Given the description of an element on the screen output the (x, y) to click on. 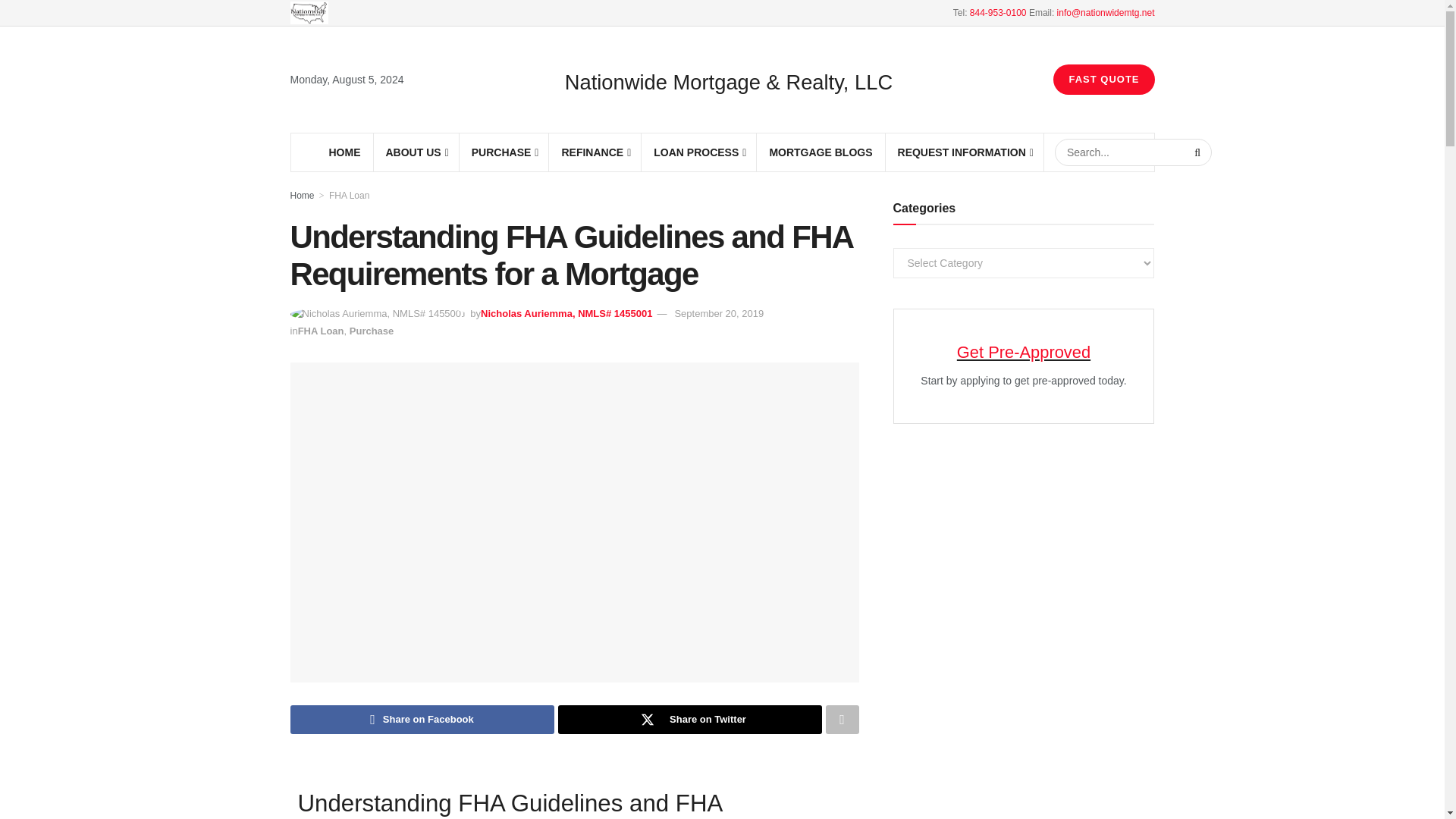
FAST QUOTE (1103, 79)
LOAN PROCESS (698, 151)
REFINANCE (594, 151)
MORTGAGE BLOGS (820, 151)
REQUEST INFORMATION (964, 151)
PURCHASE (504, 151)
844-953-0100 (997, 12)
ABOUT US (415, 151)
HOME (345, 151)
